Given the description of an element on the screen output the (x, y) to click on. 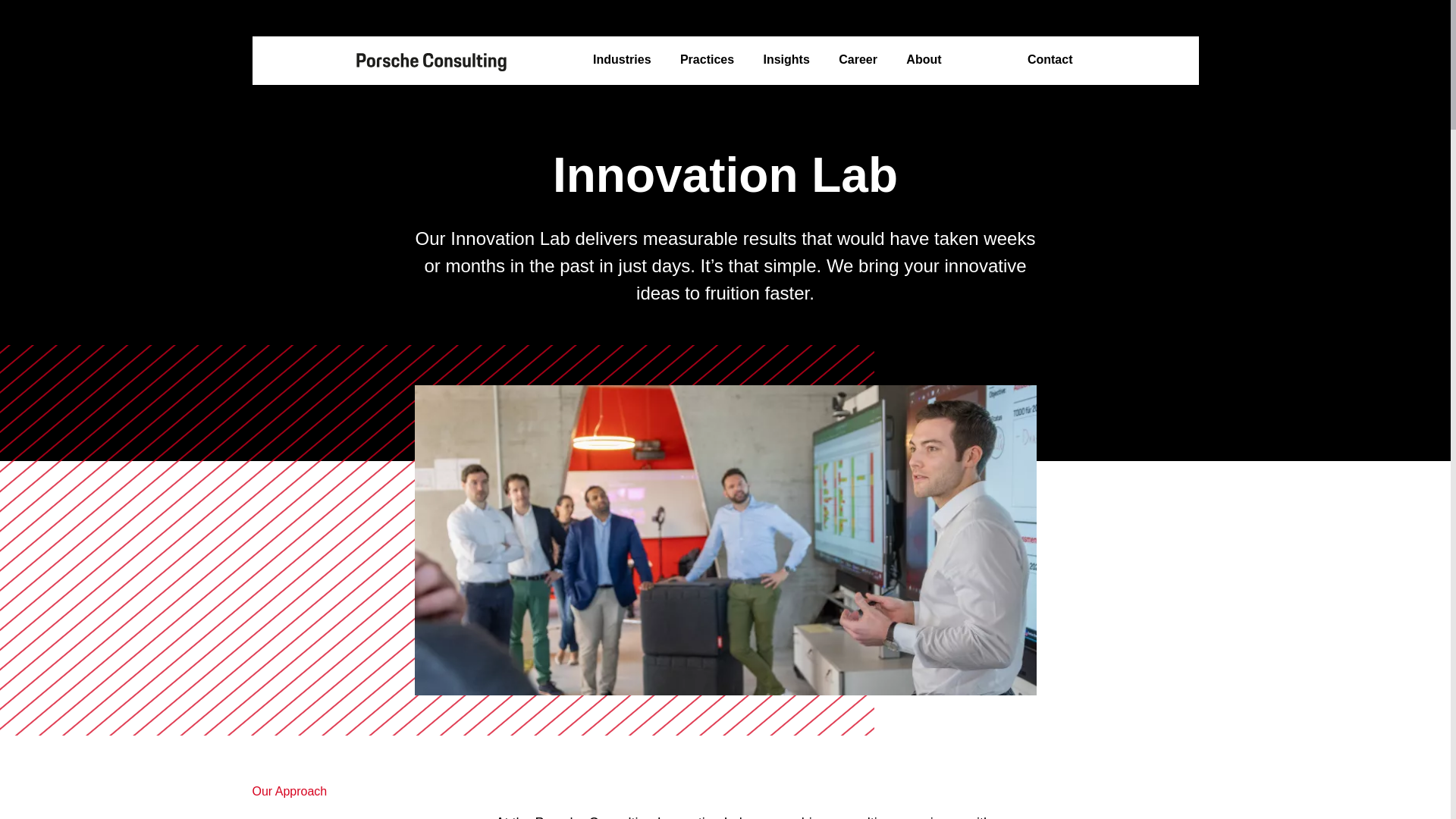
Practices (706, 60)
Contact (1050, 60)
About (922, 60)
Career (857, 60)
Insights (785, 60)
Industries (621, 60)
